Given the description of an element on the screen output the (x, y) to click on. 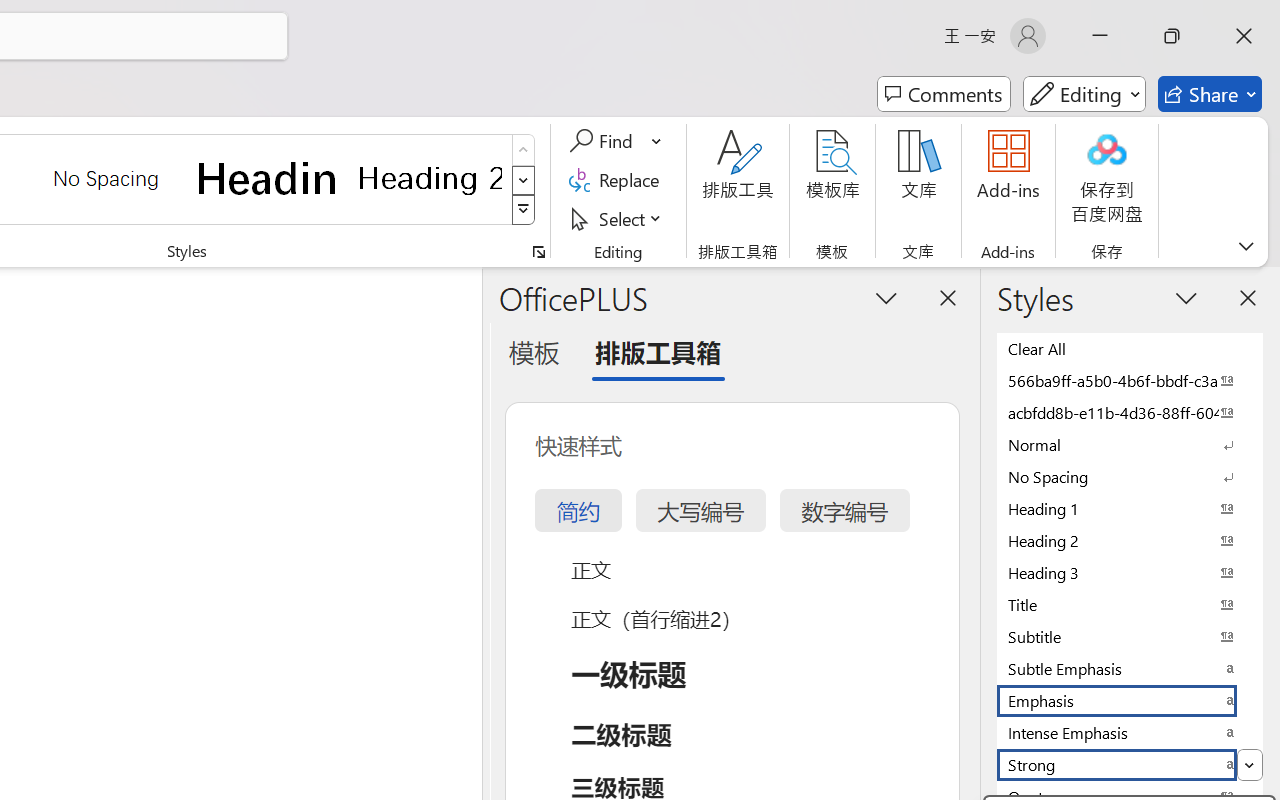
Intense Emphasis (1130, 732)
Comments (943, 94)
Clear All (1130, 348)
566ba9ff-a5b0-4b6f-bbdf-c3ab41993fc2 (1130, 380)
Normal (1130, 444)
Replace... (617, 179)
Styles (523, 209)
Find (616, 141)
Restore Down (1172, 36)
Task Pane Options (886, 297)
Title (1130, 604)
Heading 1 (267, 178)
